Given the description of an element on the screen output the (x, y) to click on. 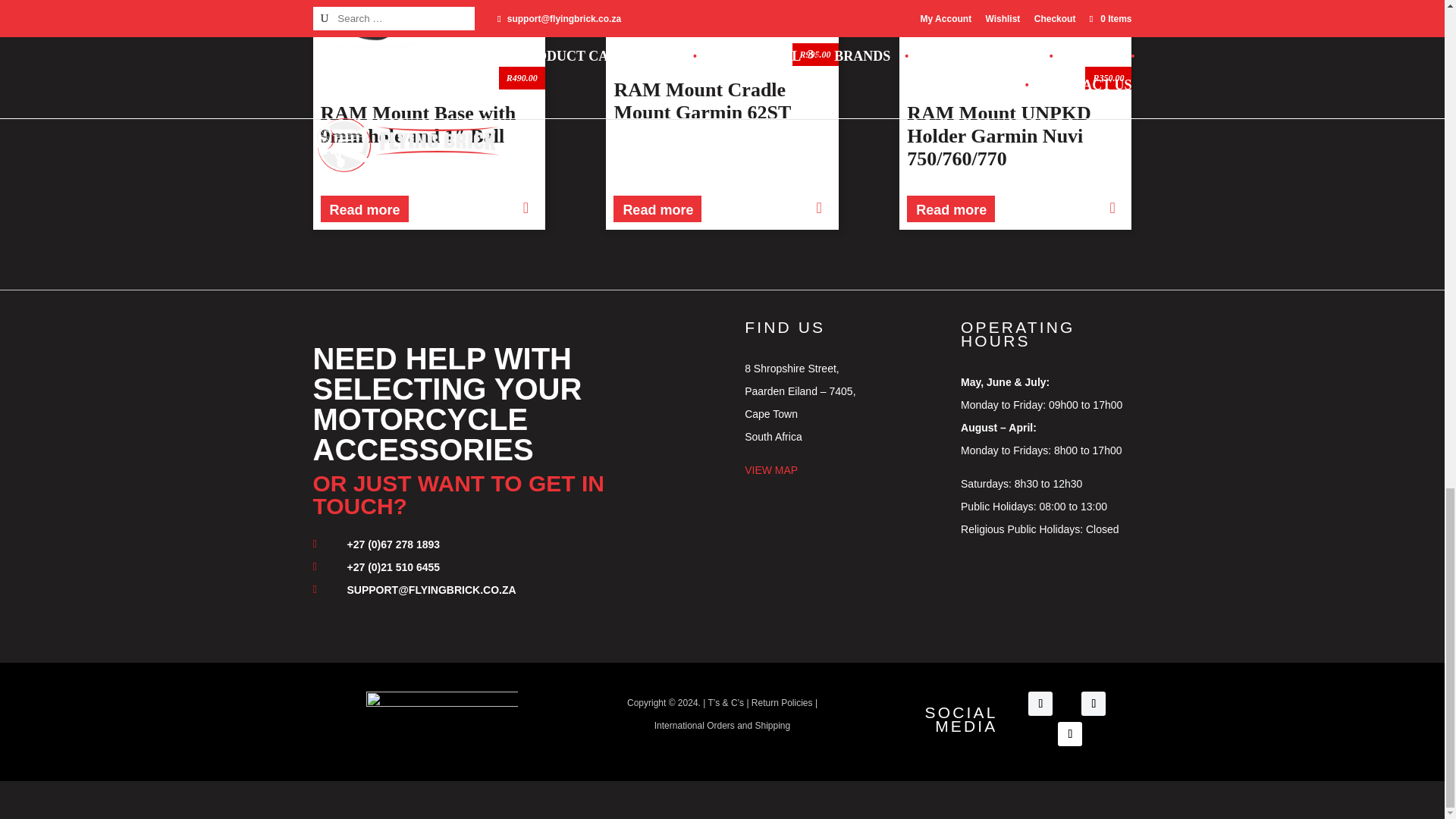
Follow on Instagram (1093, 703)
Follow on Youtube (1069, 733)
footer-logo (442, 713)
Follow on Facebook (1039, 703)
